Given the description of an element on the screen output the (x, y) to click on. 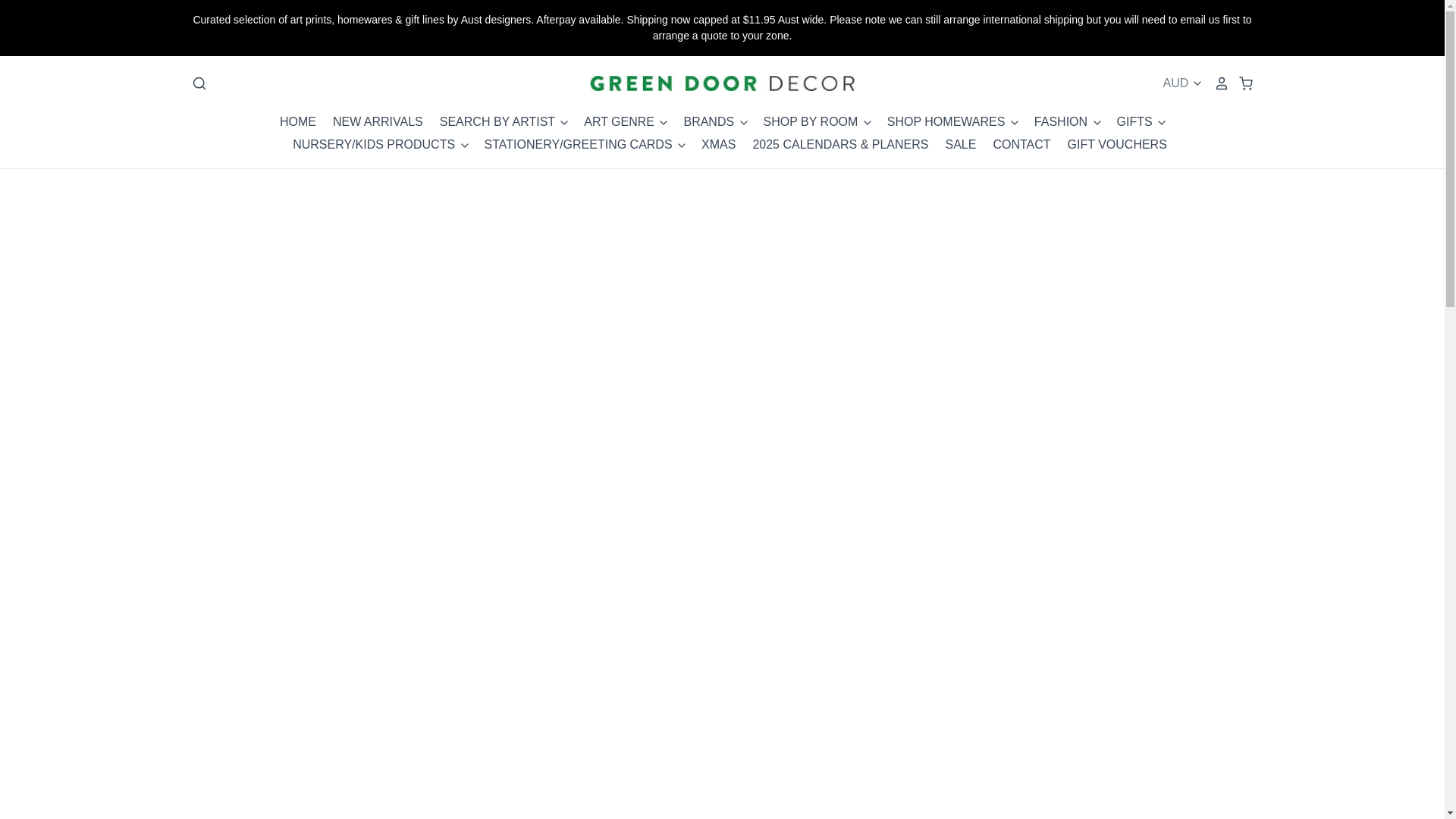
Chevron down Icon (663, 122)
Chevron down Icon (867, 122)
Chevron down Icon (464, 145)
Chevron down Icon (563, 122)
Chevron down Icon (1096, 122)
Chevron down Icon (1161, 122)
Chevron down Icon (1014, 122)
Chevron down Icon (681, 145)
Chevron down Icon (743, 122)
